Given the description of an element on the screen output the (x, y) to click on. 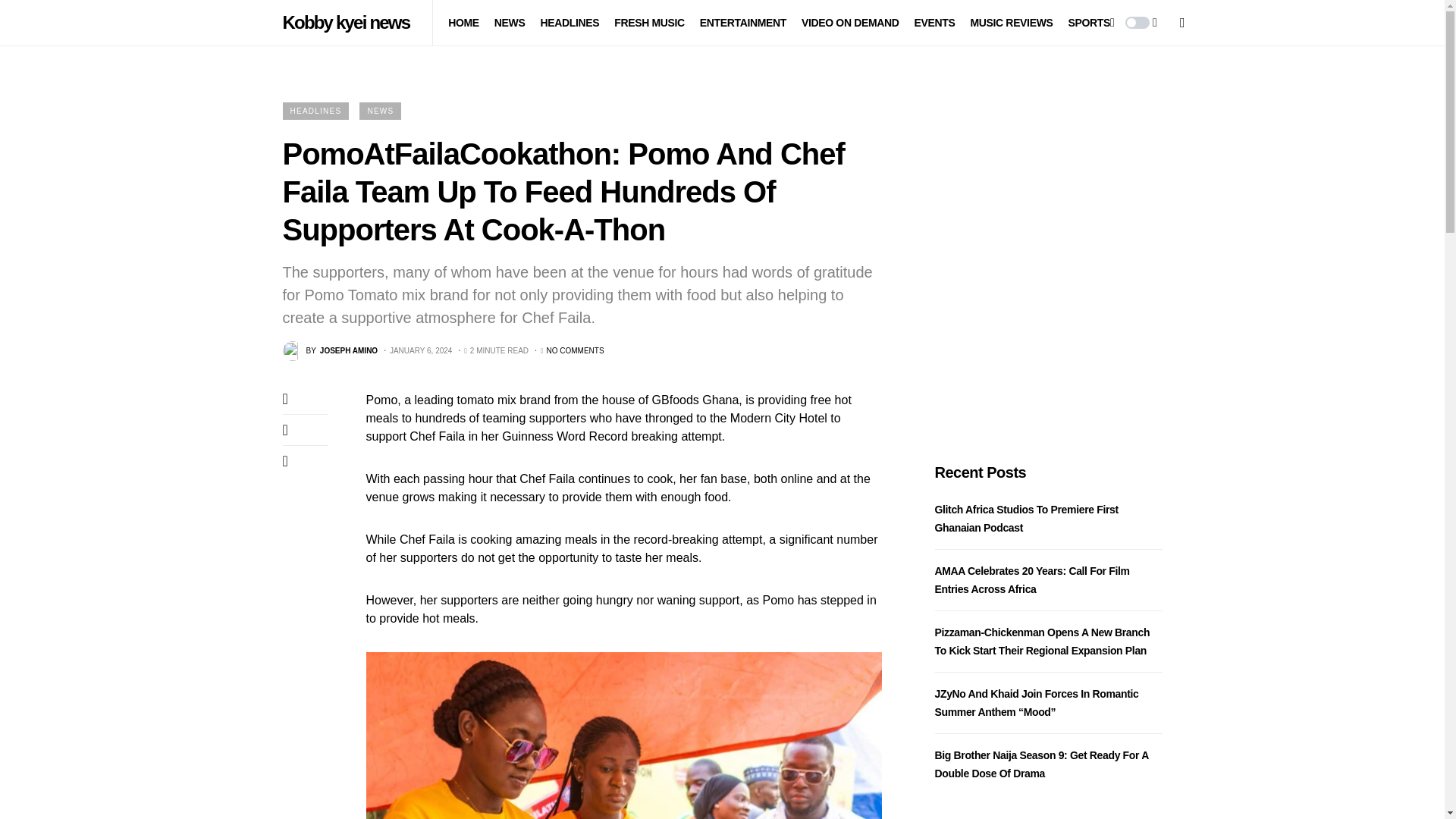
FRESH MUSIC (649, 22)
Kobby kyei news (349, 22)
HEADLINES (569, 22)
EVENTS (934, 22)
VIDEO ON DEMAND (850, 22)
SPORTS (1088, 22)
ENTERTAINMENT (743, 22)
MUSIC REVIEWS (1010, 22)
View all posts by Joseph Amino (329, 351)
